Given the description of an element on the screen output the (x, y) to click on. 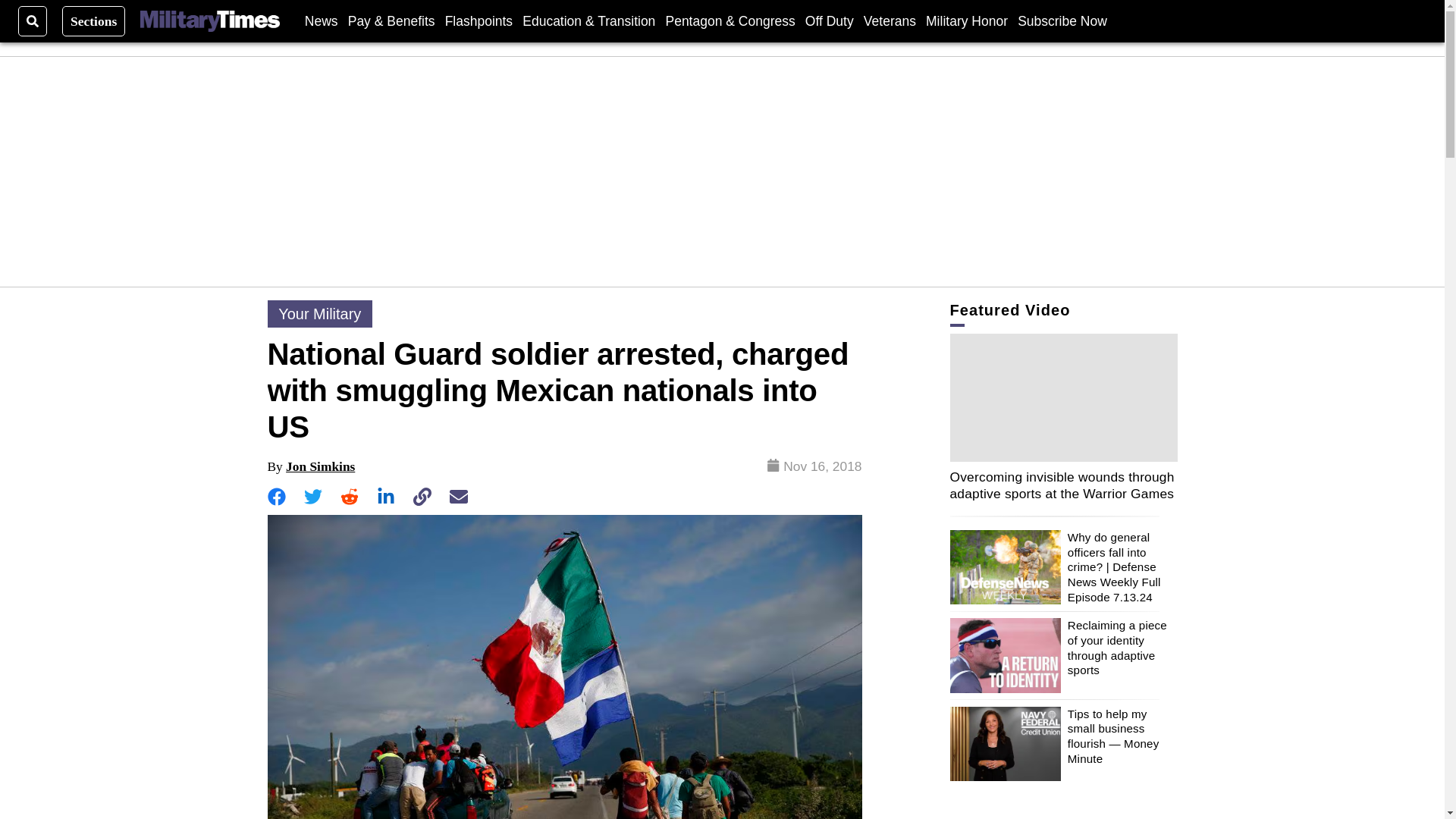
Military Times Logo (209, 20)
News (320, 20)
Flashpoints (479, 20)
Sections (93, 20)
Off Duty (829, 20)
Military Honor (966, 20)
Veterans (889, 20)
